Given the description of an element on the screen output the (x, y) to click on. 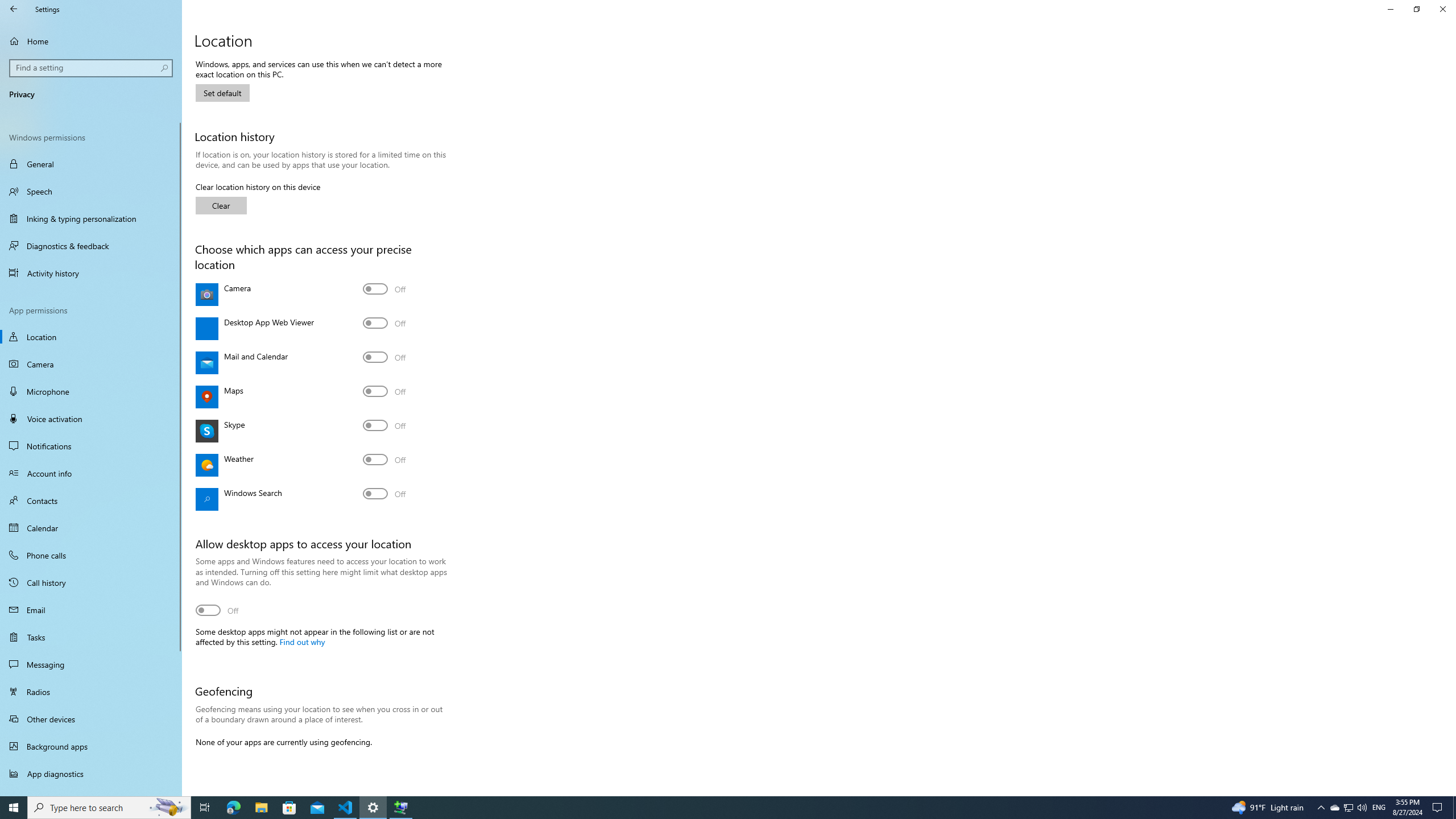
Restore Settings (1416, 9)
App diagnostics (91, 773)
